Given the description of an element on the screen output the (x, y) to click on. 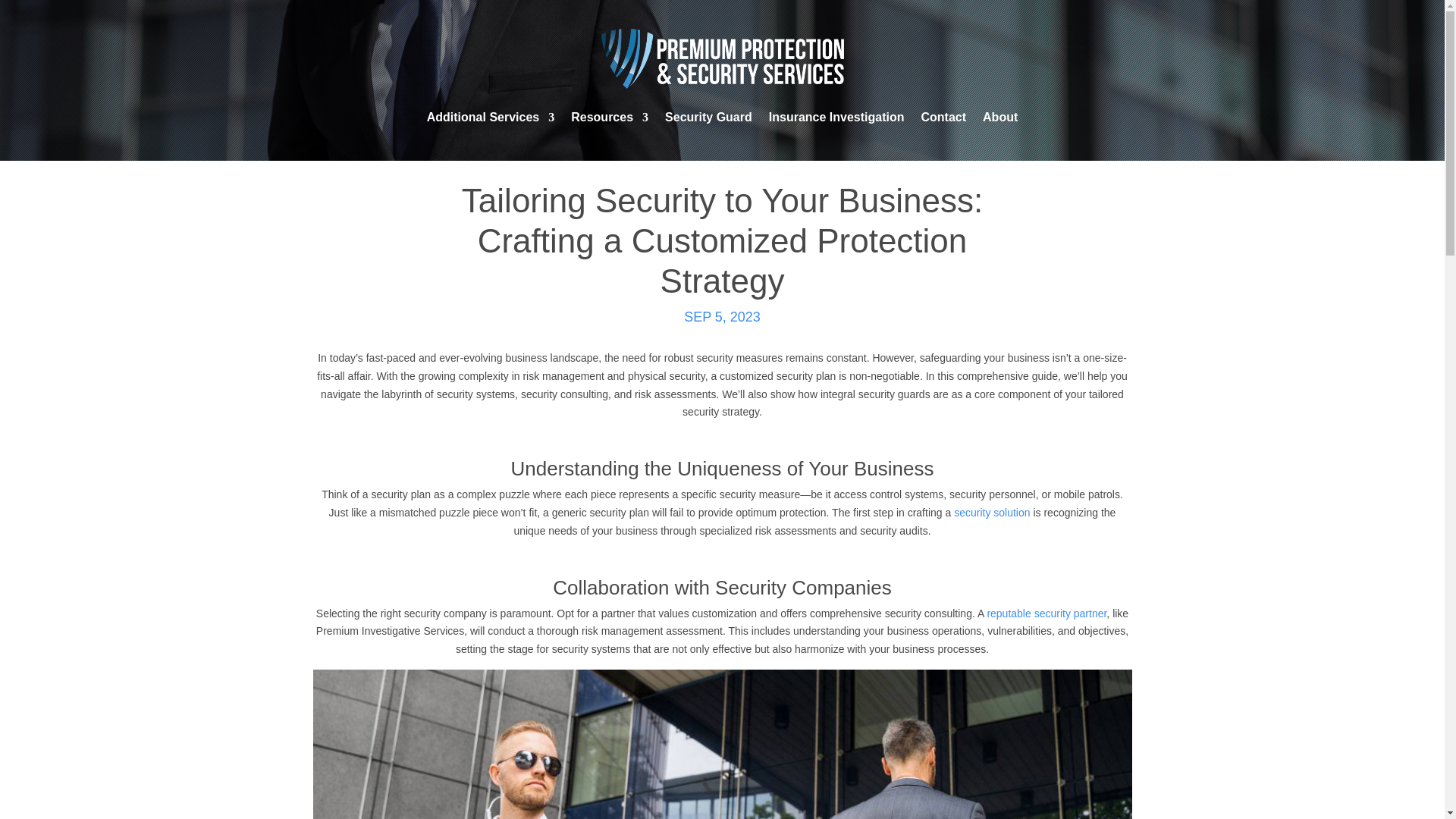
reputable security partner (1046, 613)
Additional Services (490, 117)
Resources (608, 117)
Insurance Investigation (836, 117)
Security Guard (708, 117)
security solution (991, 512)
